Given the description of an element on the screen output the (x, y) to click on. 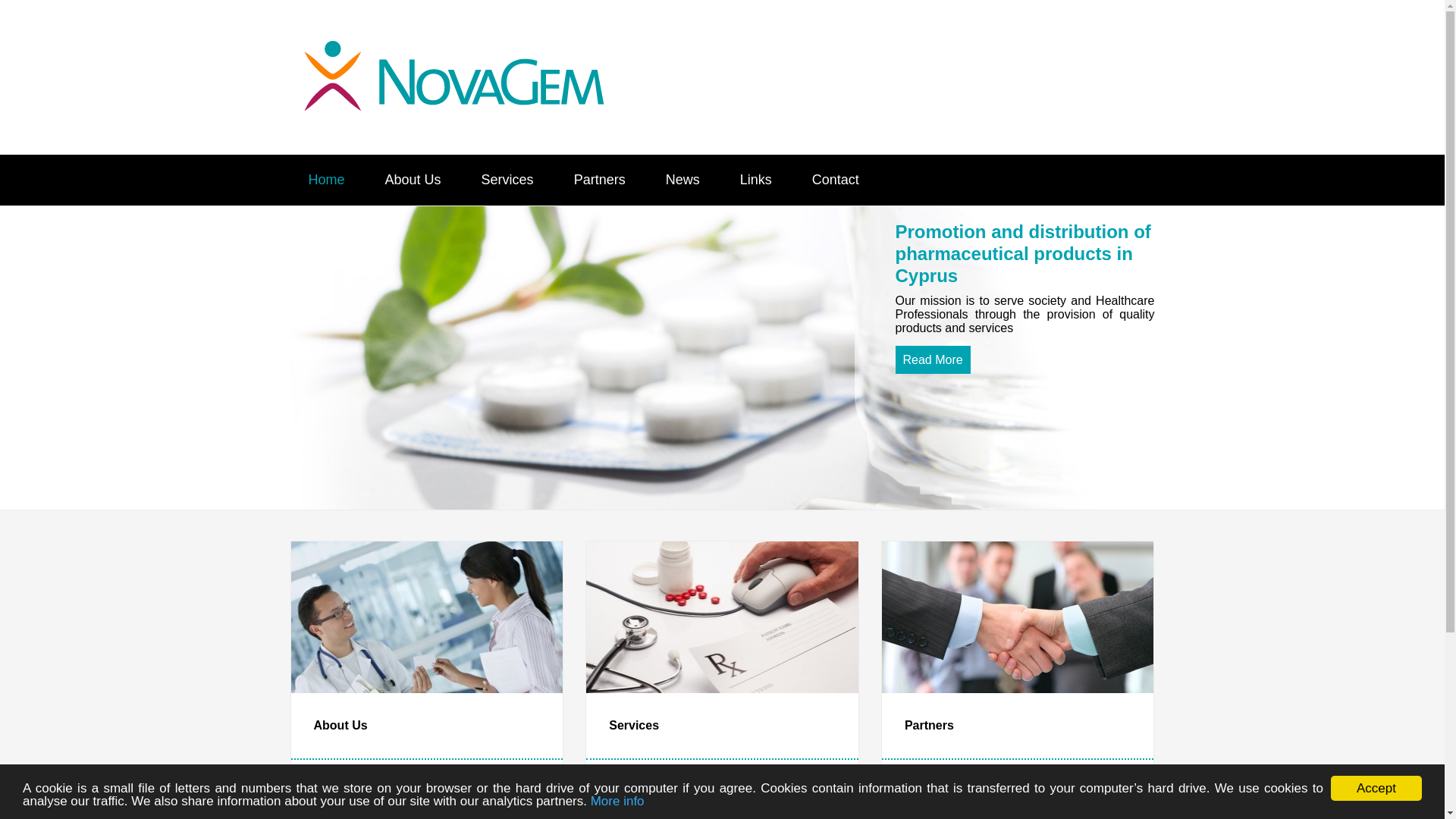
Home (325, 179)
About the company (932, 359)
Partners (599, 179)
Links (756, 179)
Read More (932, 359)
Services (507, 179)
About Us (413, 179)
News (682, 179)
Contact (835, 179)
